Given the description of an element on the screen output the (x, y) to click on. 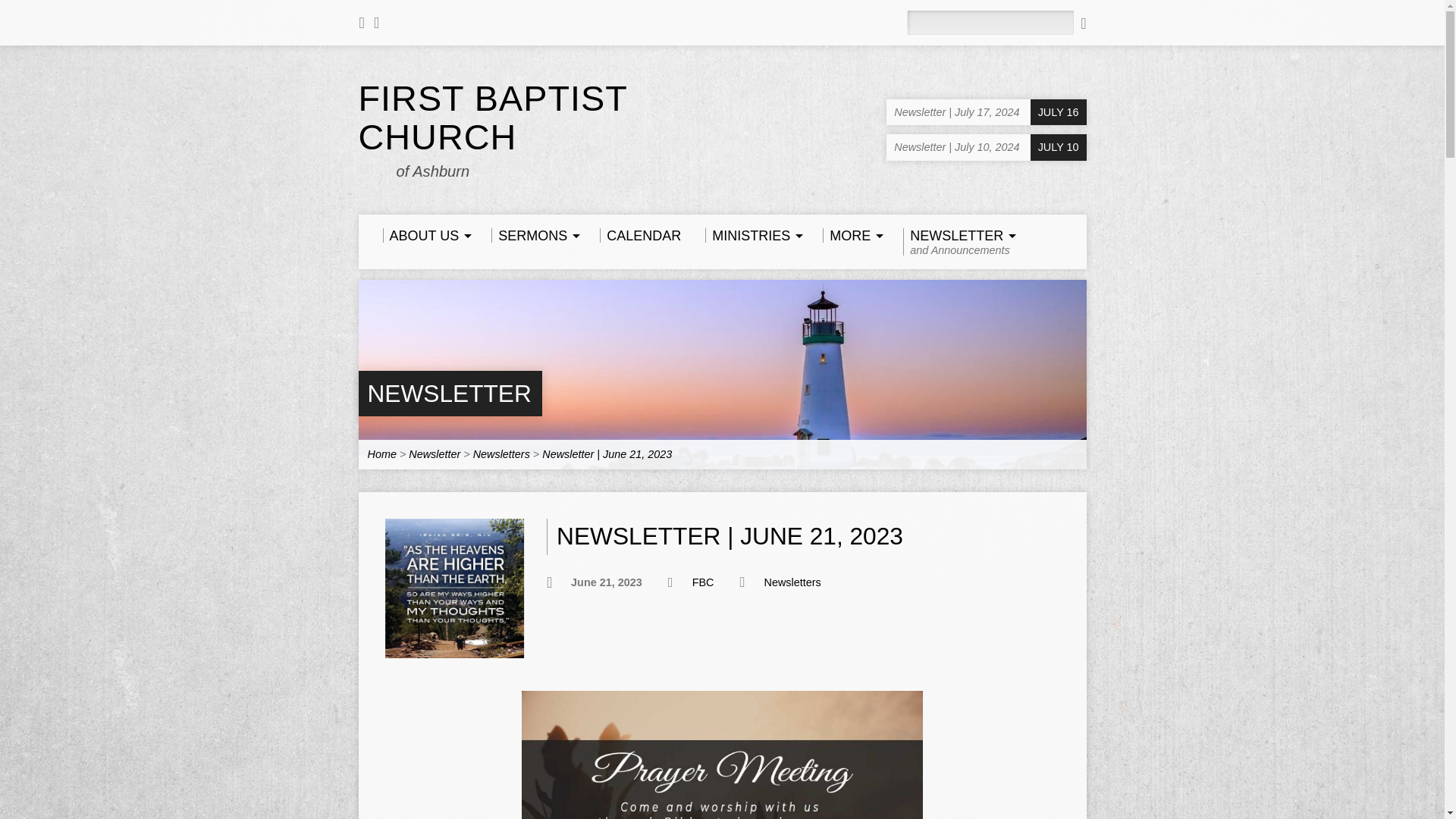
FIRST BAPTIST CHURCH (492, 117)
Newsletters (501, 453)
Newsletter (448, 393)
Instagram (376, 22)
Newsletter (434, 453)
Search (1083, 23)
ABOUT US (424, 235)
MORE (850, 235)
NEWSLETTER (956, 241)
MINISTRIES (448, 393)
Home (750, 235)
SERMONS (381, 453)
CALENDAR (533, 235)
Facebook (640, 235)
